Given the description of an element on the screen output the (x, y) to click on. 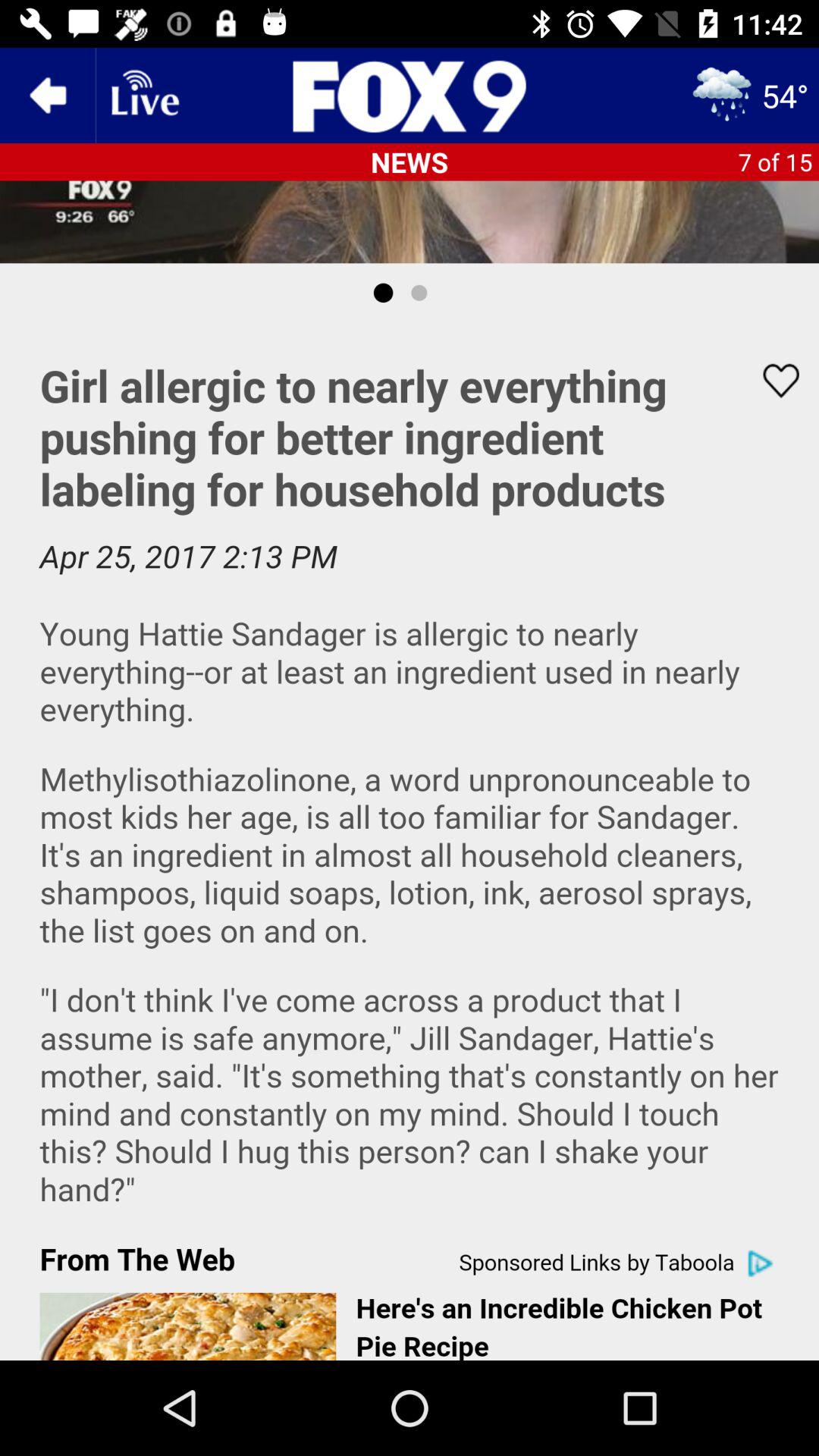
fox 9 (409, 95)
